Given the description of an element on the screen output the (x, y) to click on. 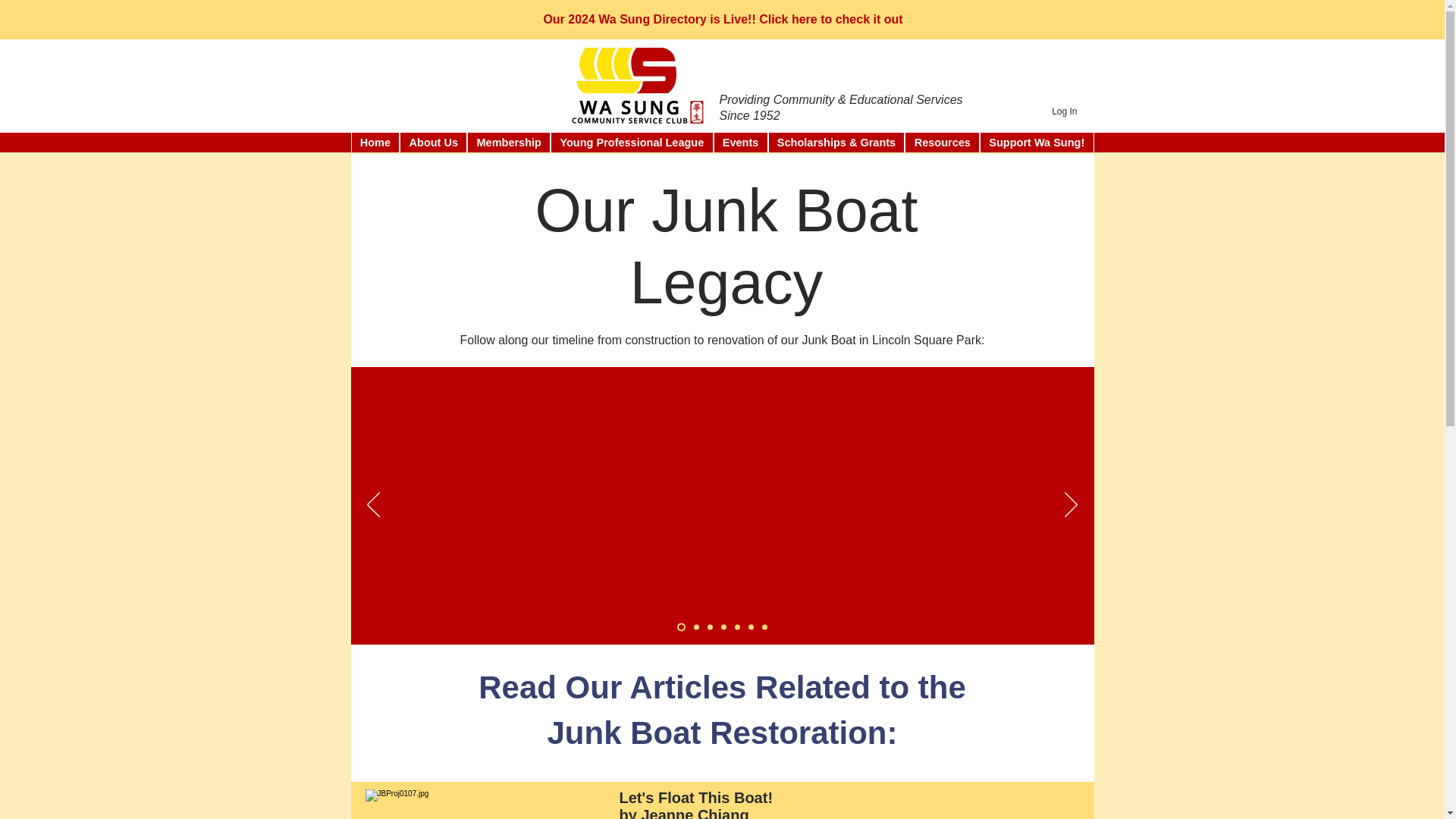
Young Professional League (631, 142)
Support Wa Sung! (1036, 142)
Events (740, 142)
Home (374, 142)
Log In (1064, 111)
About Us (432, 142)
